Given the description of an element on the screen output the (x, y) to click on. 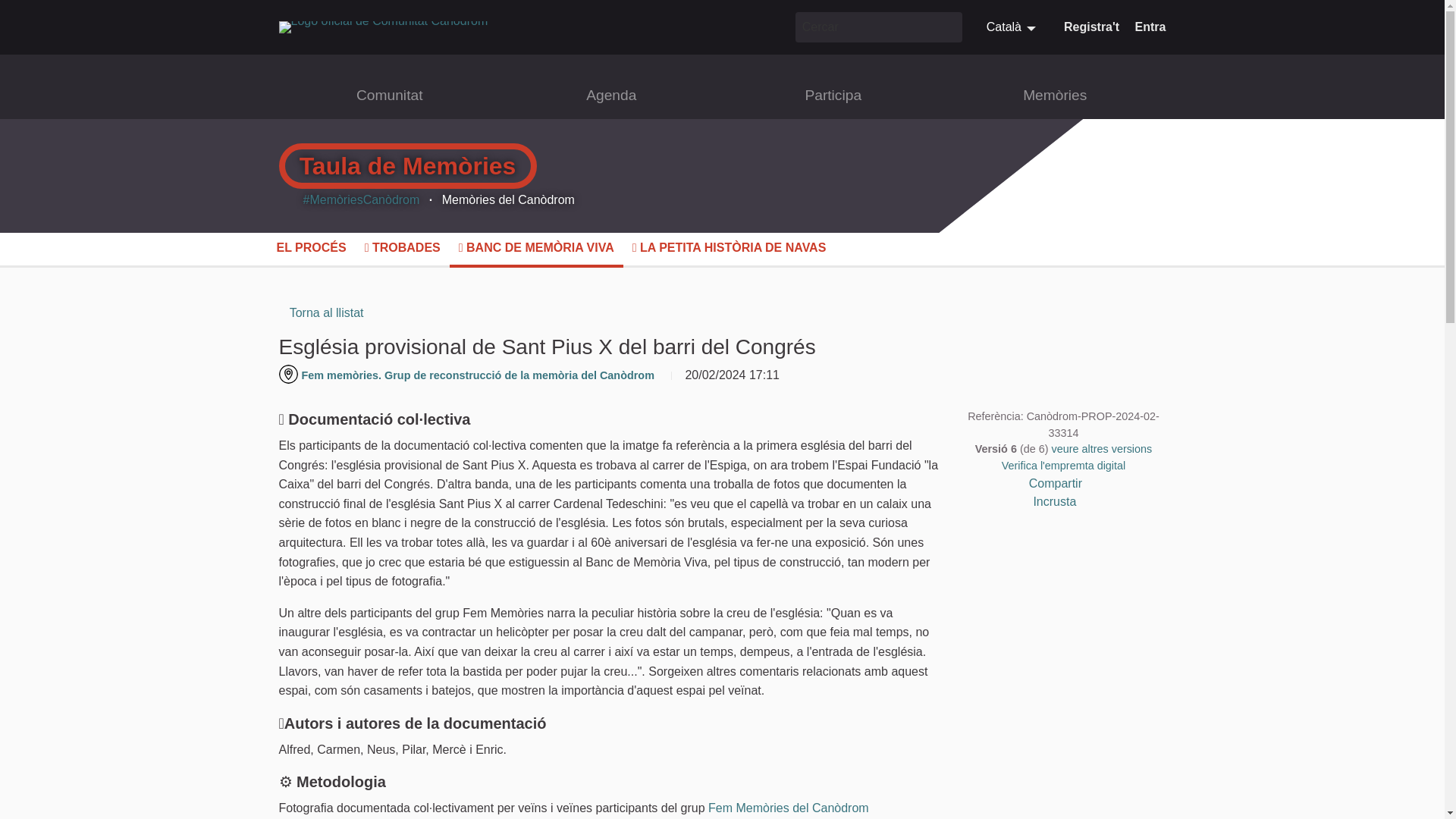
Entra (1150, 26)
share (1093, 483)
Verifica l'empremta digital (1063, 465)
Cercar (948, 27)
Agenda (611, 95)
Registra't (1091, 26)
Comunitat (389, 95)
chevron-left Torna al llistat (321, 312)
code (1088, 500)
Cercar (864, 27)
